Given the description of an element on the screen output the (x, y) to click on. 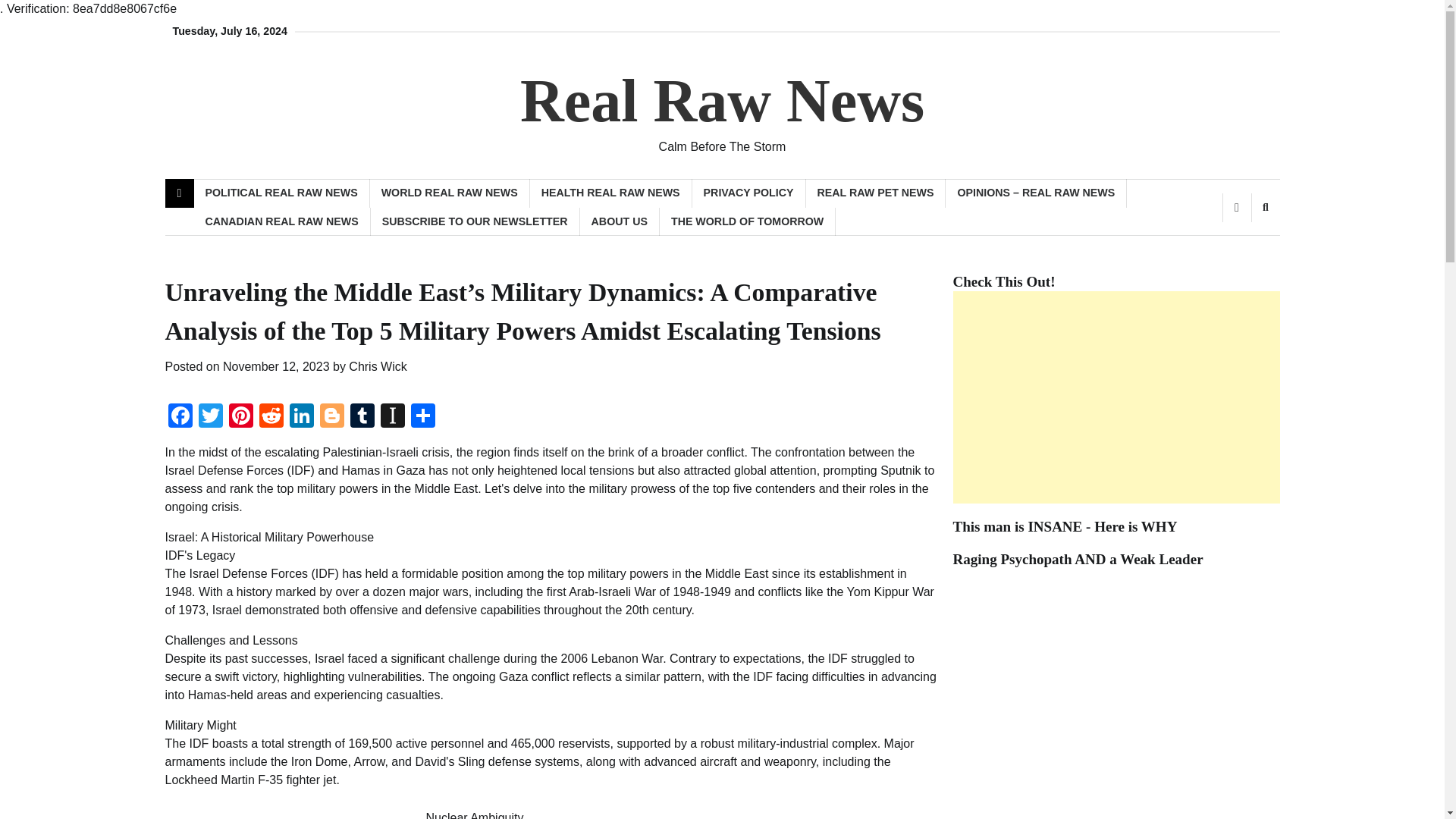
SUBSCRIBE TO OUR NEWSLETTER (475, 221)
WORLD REAL RAW NEWS (449, 193)
LinkedIn (301, 417)
Instapaper (392, 417)
View Random Post (1236, 207)
Facebook (180, 417)
LinkedIn (301, 417)
Search (1264, 207)
Pinterest (240, 417)
Instapaper (392, 417)
Pinterest (240, 417)
Facebook (180, 417)
Search (1240, 247)
Real Raw News (721, 100)
